Given the description of an element on the screen output the (x, y) to click on. 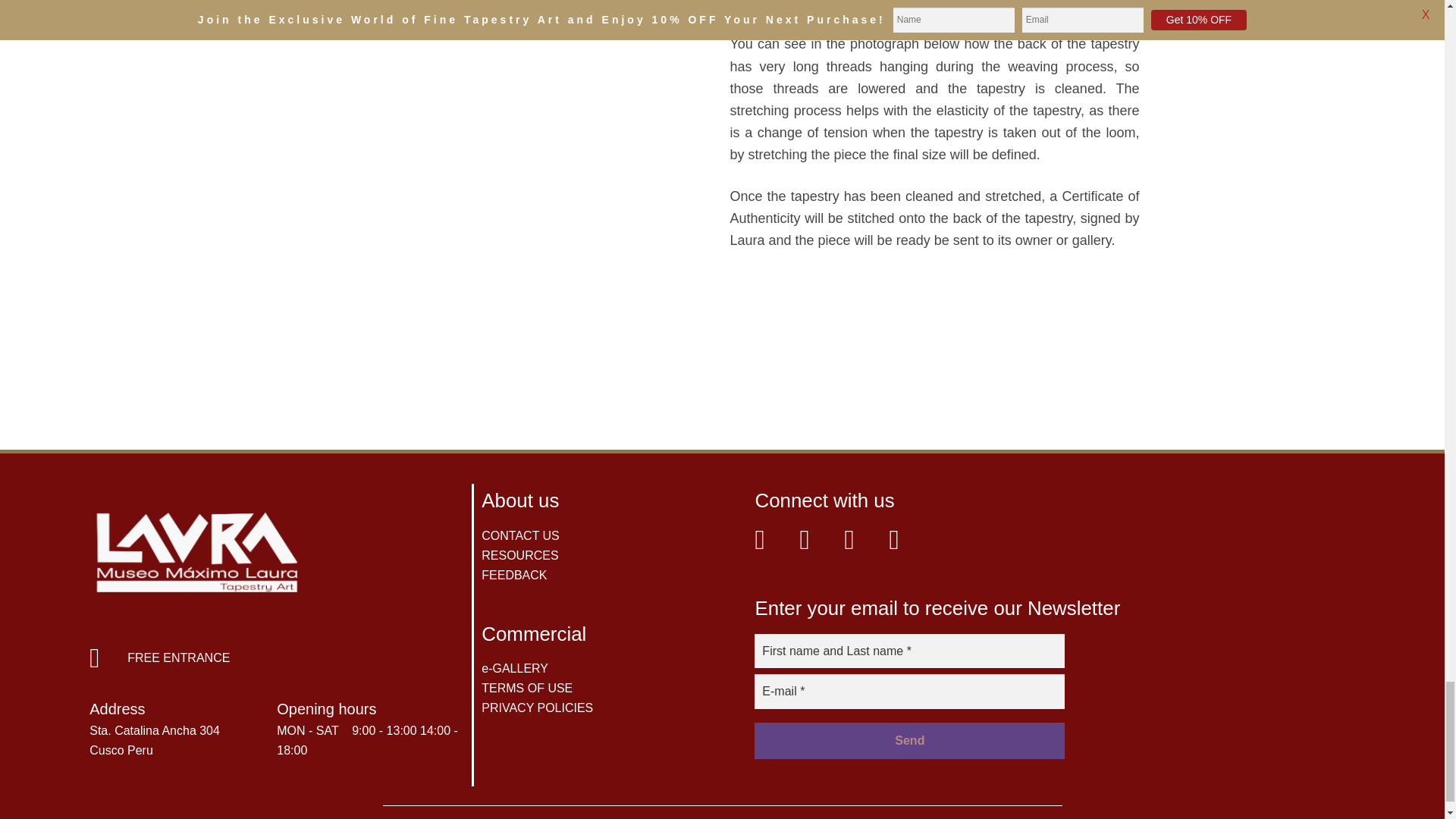
Send (909, 740)
